Given the description of an element on the screen output the (x, y) to click on. 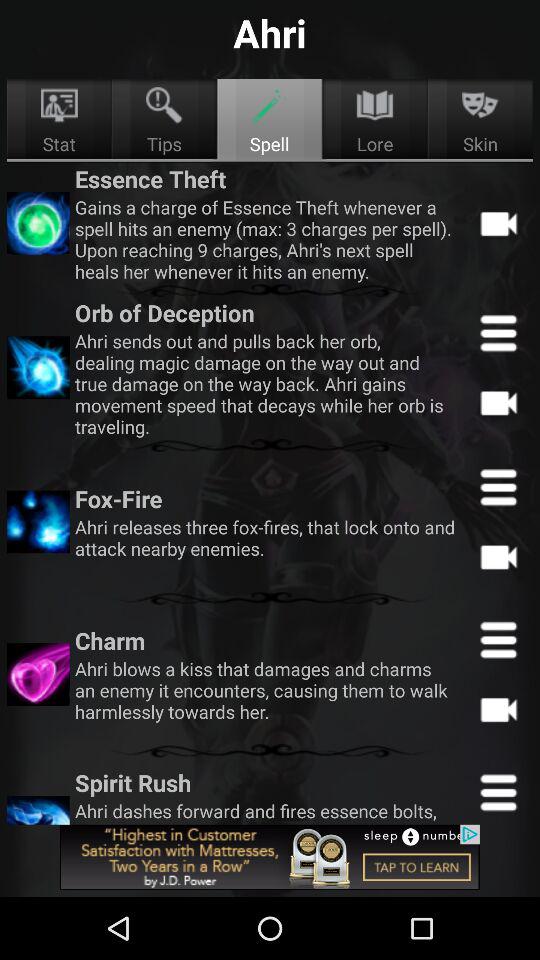
record video (498, 556)
